Given the description of an element on the screen output the (x, y) to click on. 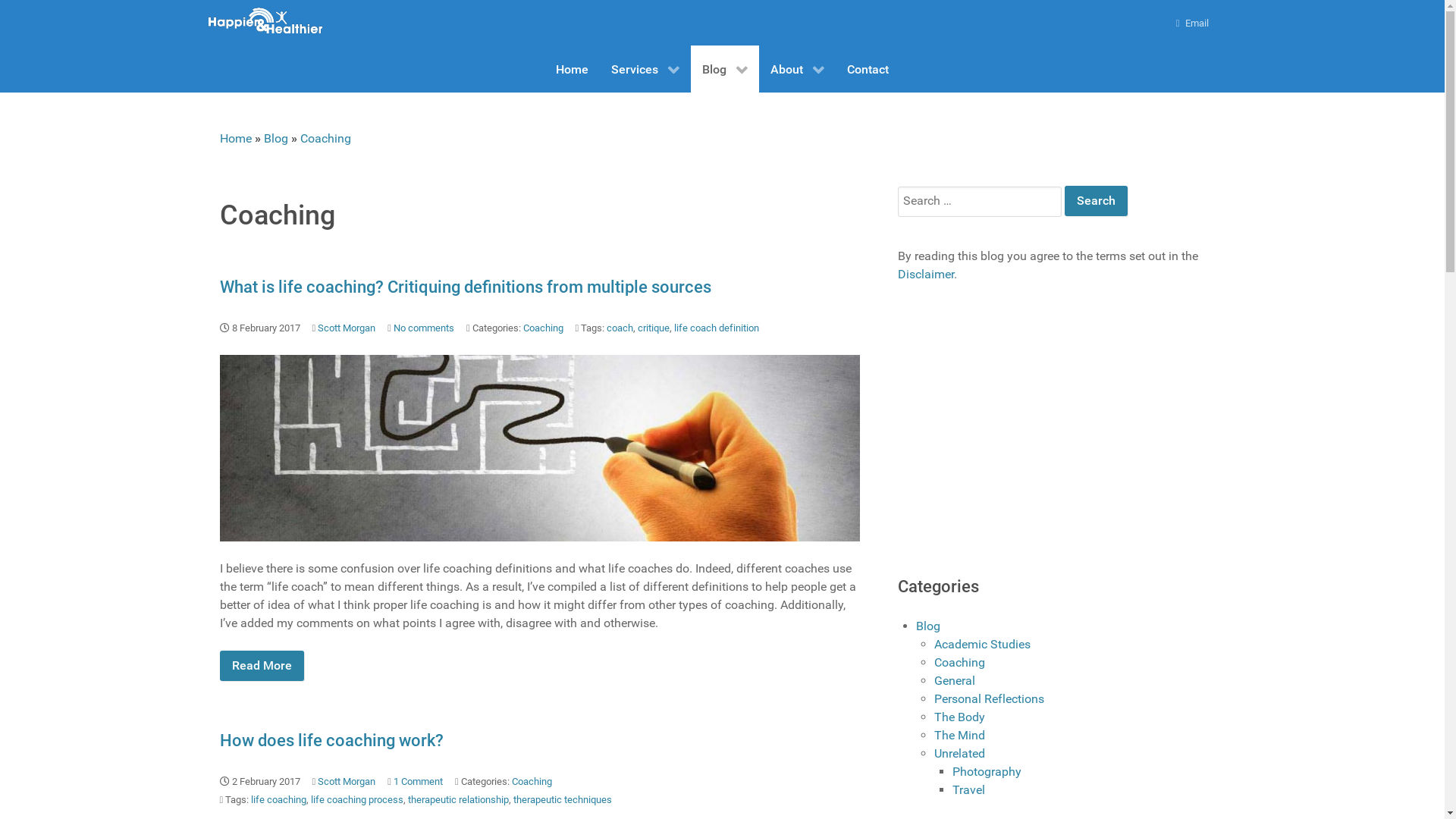
Search for: Element type: hover (979, 201)
Unrelated Element type: text (959, 753)
life coach definition Element type: text (716, 327)
1 Comment Element type: text (417, 781)
The Body Element type: text (959, 716)
Happier and Healthier Coaching Logo Element type: hover (264, 20)
Coaching Element type: text (531, 781)
life coaching process Element type: text (356, 799)
Coaching Element type: text (325, 138)
Advertisement Element type: hover (1024, 444)
Blog Element type: text (928, 625)
therapeutic techniques Element type: text (562, 799)
Coaching Element type: text (543, 327)
critique Element type: text (653, 327)
Search Element type: text (1095, 200)
coach Element type: text (619, 327)
life coaching Element type: text (278, 799)
Travel Element type: text (968, 789)
Blog Element type: text (275, 138)
Read More Element type: text (261, 665)
therapeutic relationship Element type: text (457, 799)
Scott Morgan Element type: text (346, 327)
Home Element type: text (571, 68)
Academic Studies Element type: text (982, 644)
Home Element type: text (235, 138)
Personal Reflections Element type: text (989, 698)
Email Element type: text (1192, 22)
The Mind Element type: text (959, 735)
General Element type: text (954, 680)
Contact Element type: text (867, 68)
Coaching Element type: text (959, 662)
Photography Element type: text (986, 771)
How does life coaching work? Element type: text (331, 739)
Disclaimer Element type: text (925, 273)
Blog Element type: text (724, 68)
No comments Element type: text (423, 327)
Scott Morgan Element type: text (346, 781)
